Given the description of an element on the screen output the (x, y) to click on. 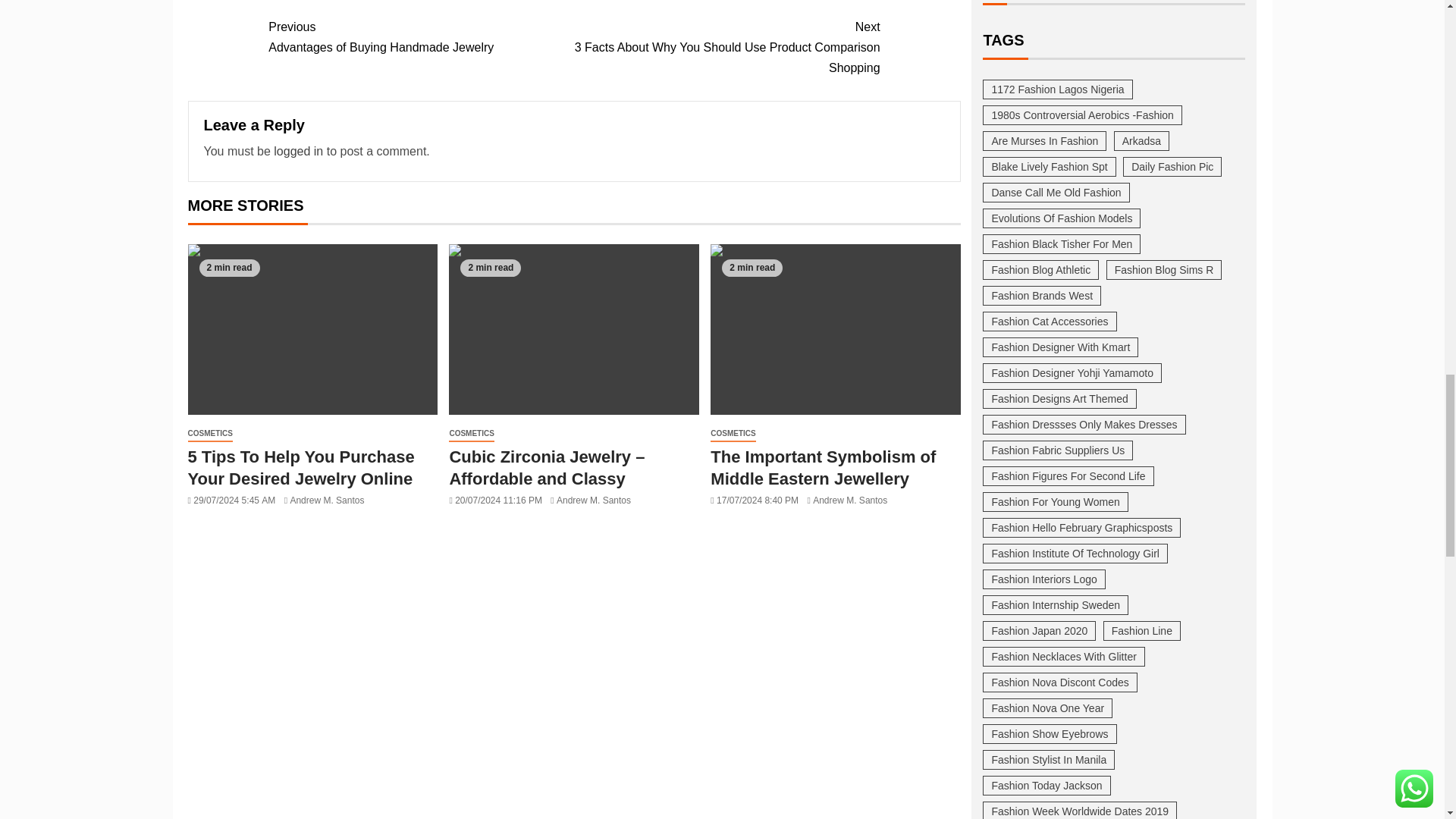
COSMETICS (420, 36)
logged in (209, 433)
5 Tips To Help You Purchase Your Desired Jewelry Online (298, 151)
